Given the description of an element on the screen output the (x, y) to click on. 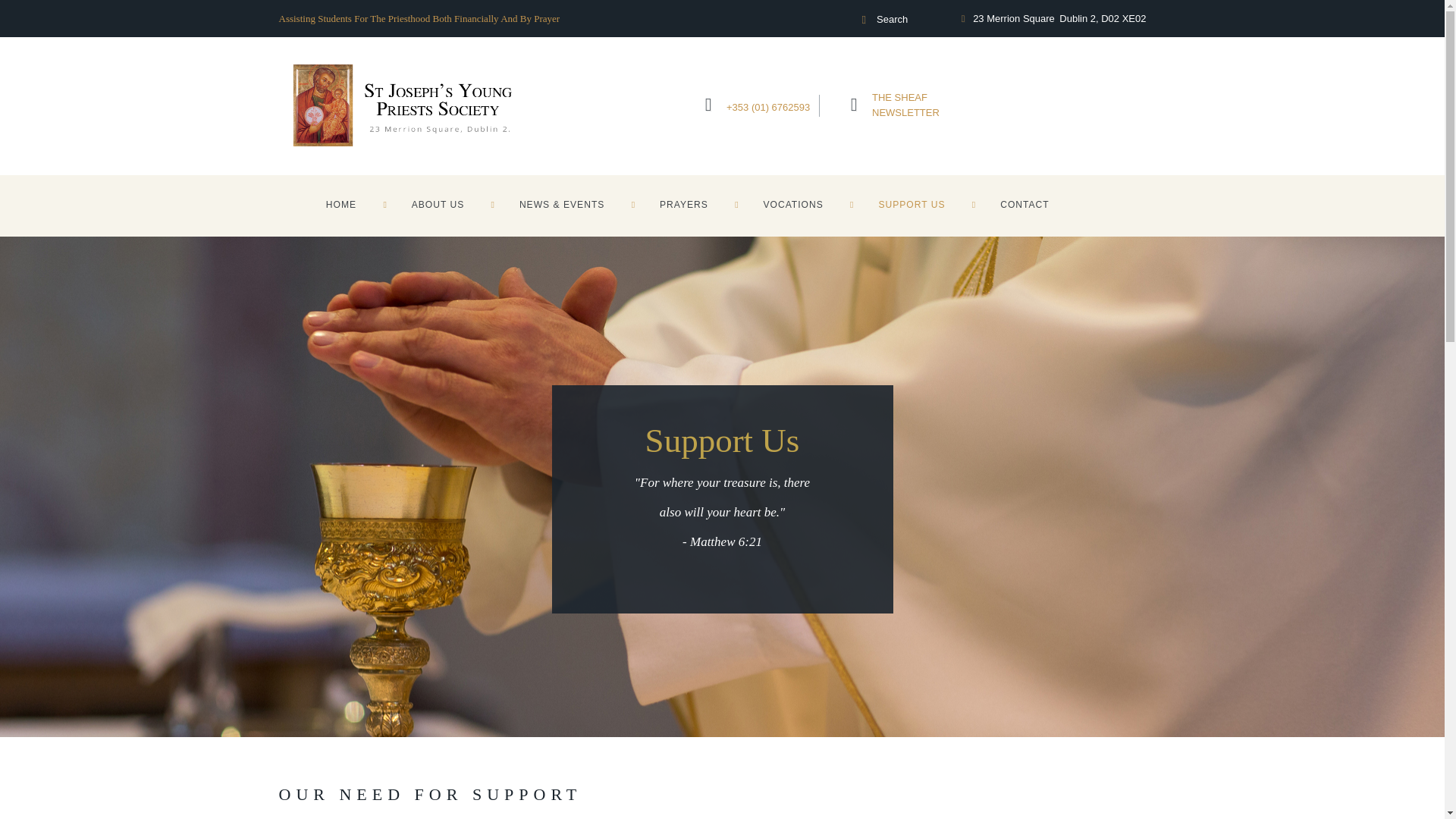
SUPPORT US (911, 205)
VOCATIONS (792, 205)
CONTACT (1024, 205)
Start search (863, 19)
PRAYERS (683, 205)
ABOUT US (438, 205)
HOME (905, 104)
